Given the description of an element on the screen output the (x, y) to click on. 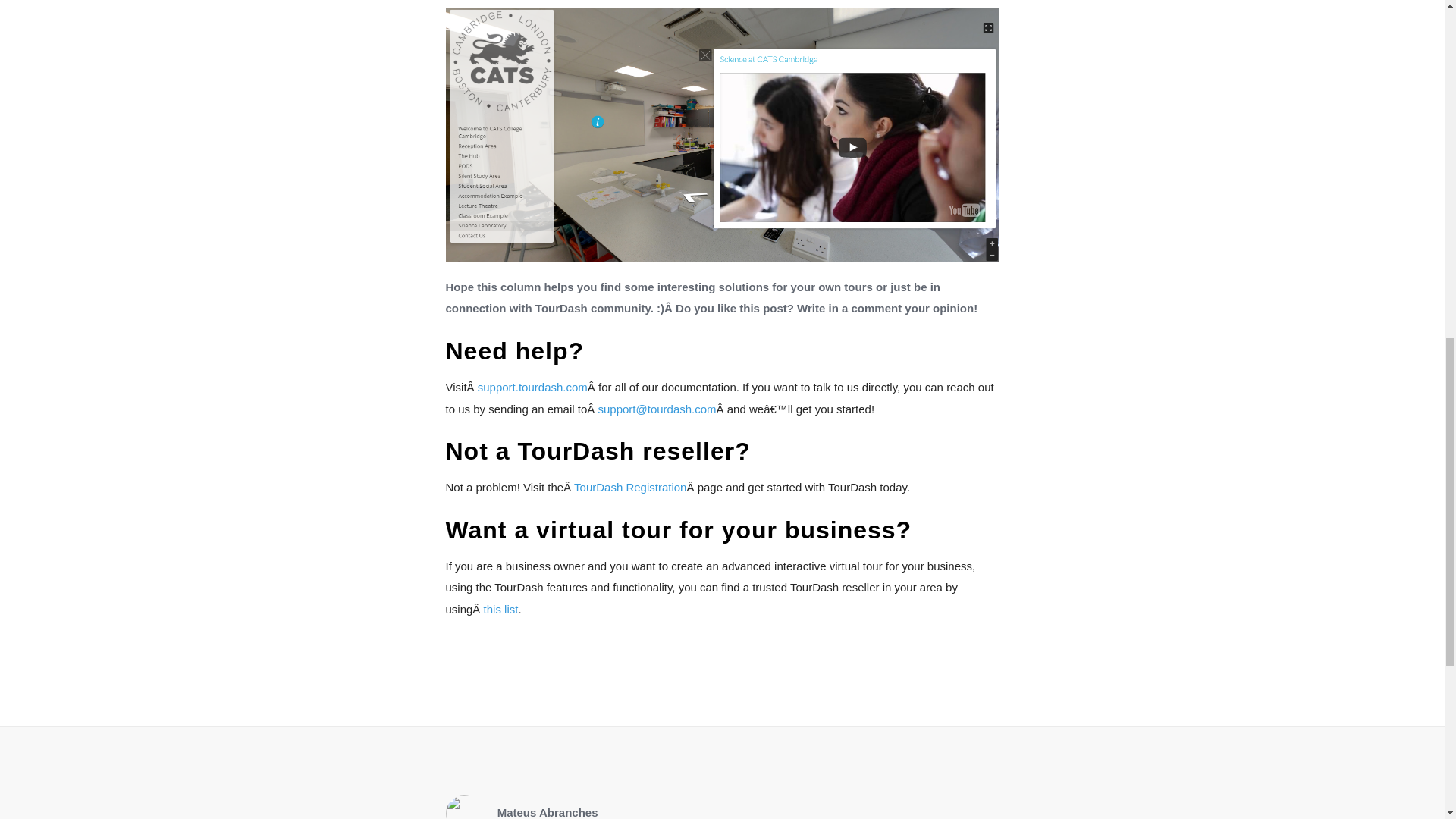
this list (500, 608)
TourDash Registration (629, 486)
support.tourdash.com (532, 386)
